Given the description of an element on the screen output the (x, y) to click on. 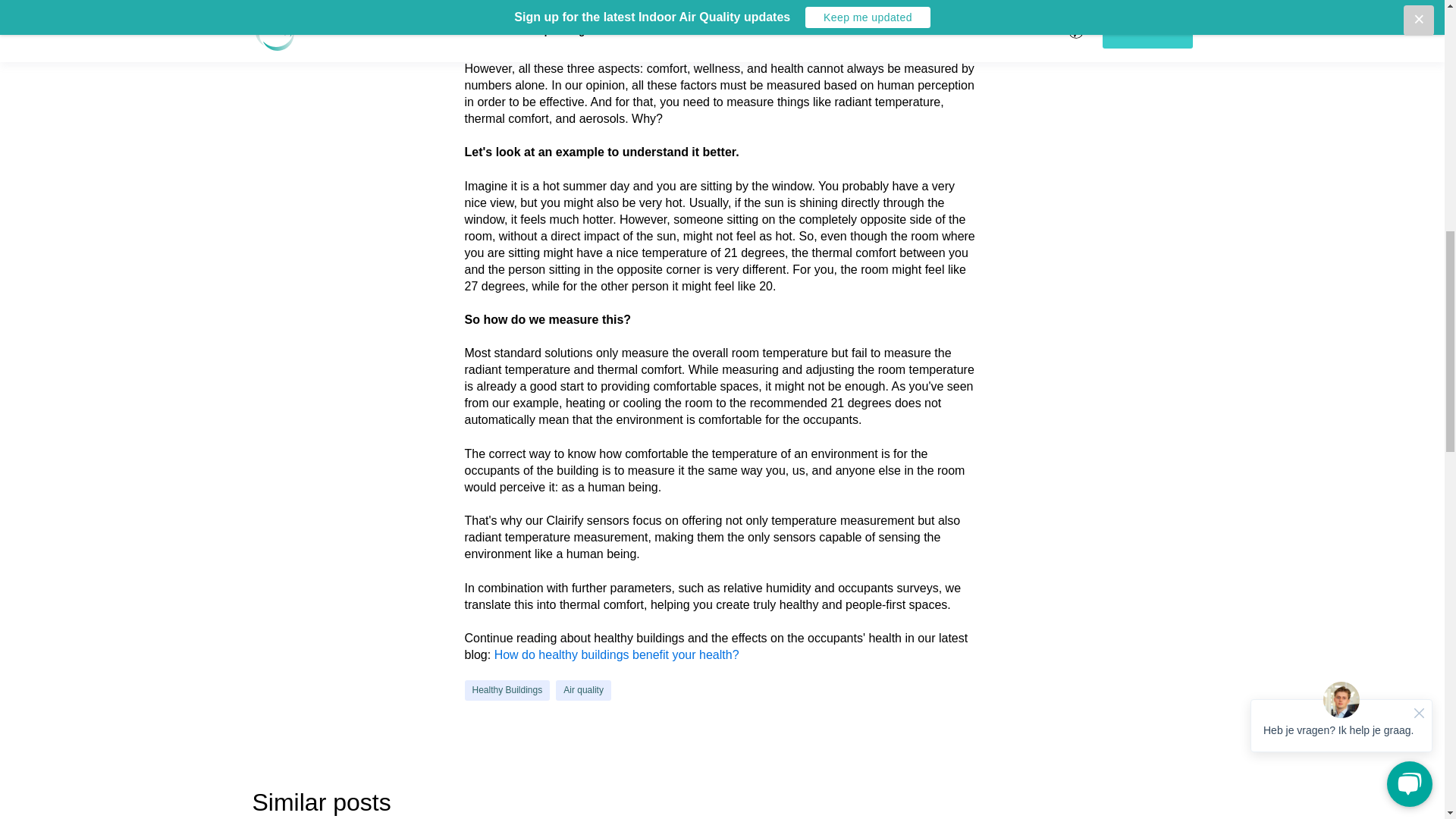
Air quality (583, 690)
How do healthy buildings benefit your health? (617, 654)
Healthy Buildings (507, 690)
